Given the description of an element on the screen output the (x, y) to click on. 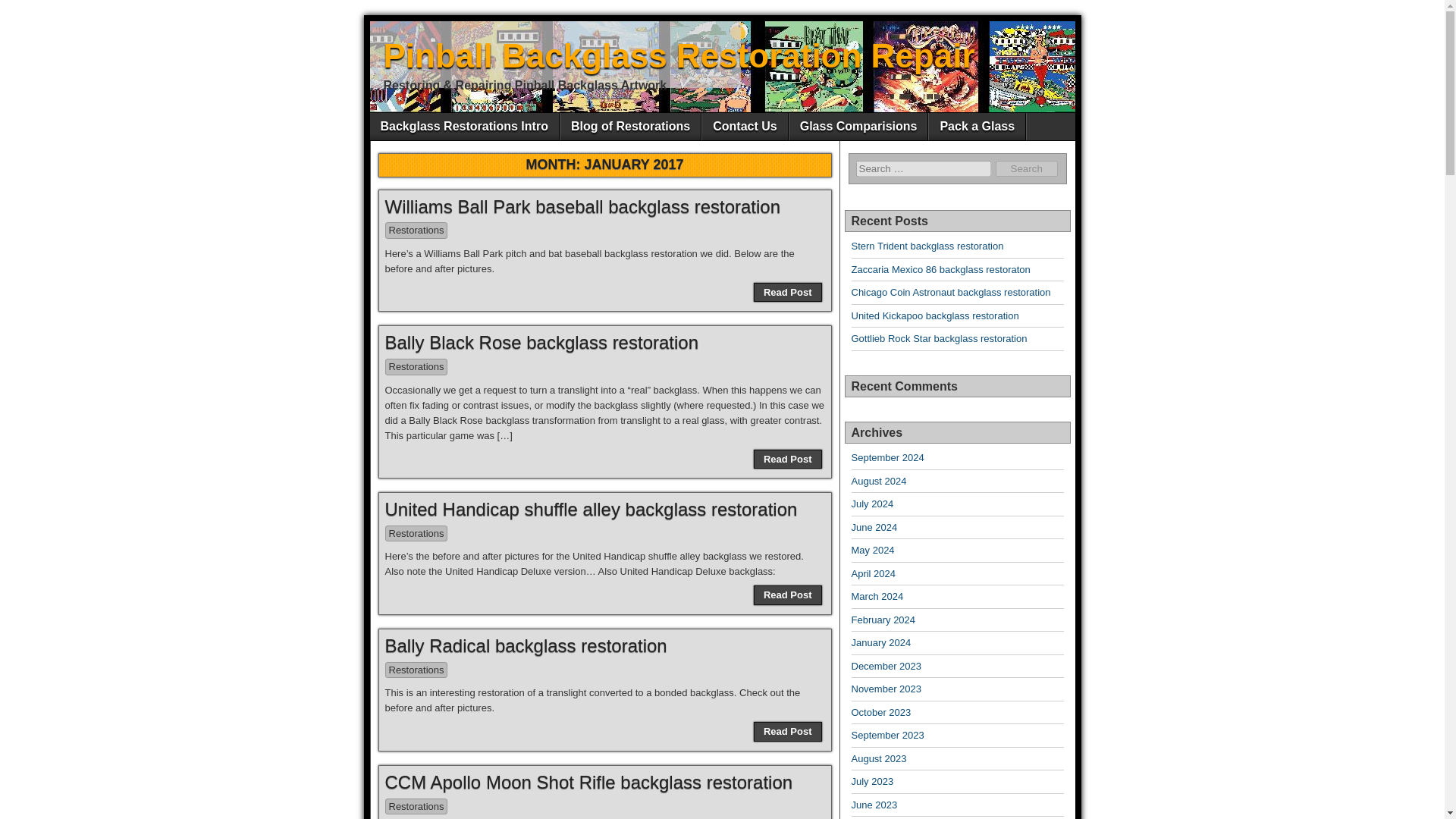
September 2024 (886, 457)
Blog of Restorations (630, 126)
Zaccaria Mexico 86 backglass restoraton (939, 269)
Pinball Backglass Restoration Repair (679, 55)
Backglass Restorations Intro (464, 126)
Glass Comparisions (858, 126)
Gottlieb Rock Star backglass restoration (938, 337)
Contact Us (744, 126)
Chicago Coin Astronaut backglass restoration (949, 292)
Restorations (416, 230)
